Given the description of an element on the screen output the (x, y) to click on. 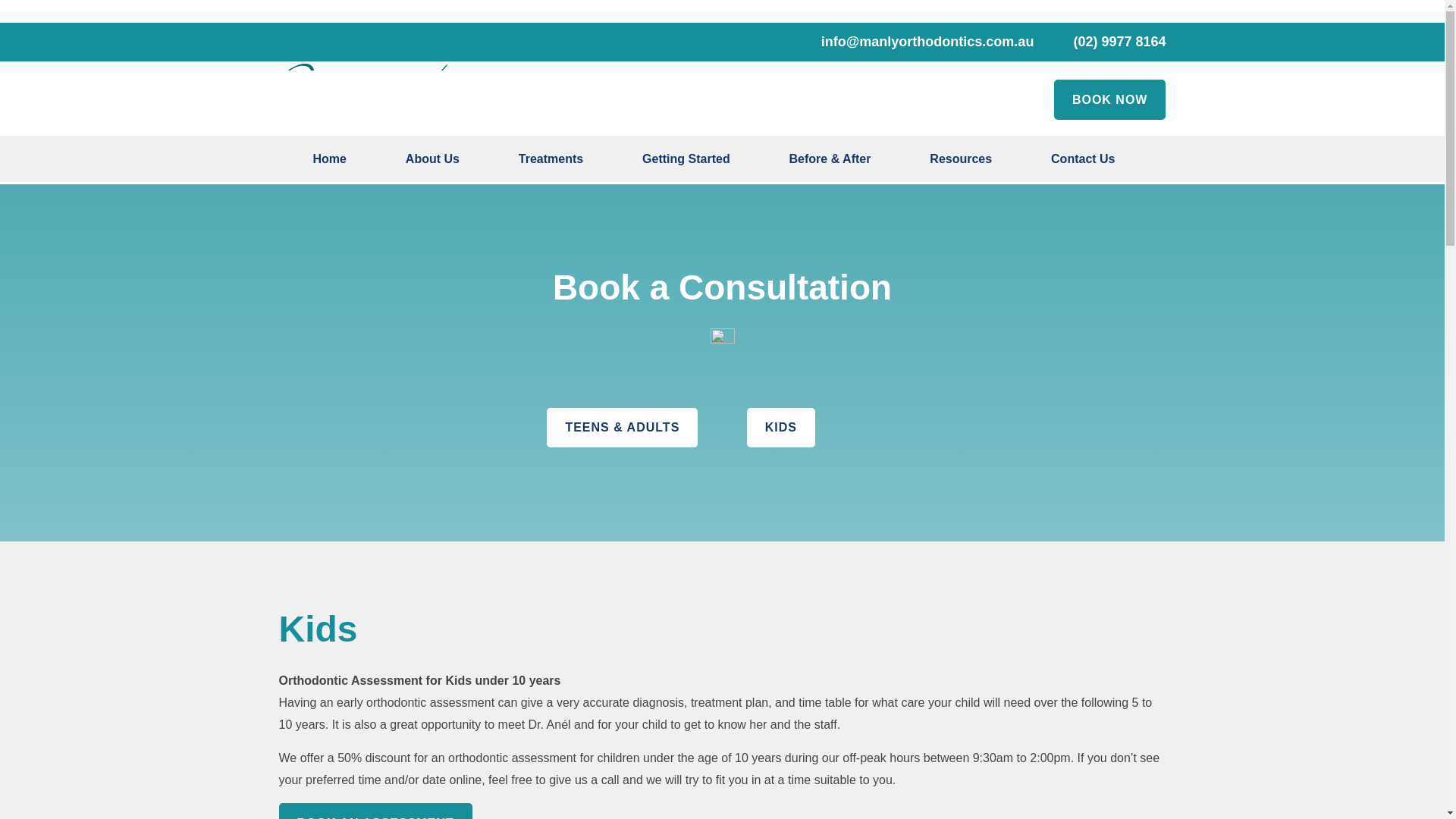
BOOK AN ASSESSMENT (375, 811)
About Us (433, 161)
NEW Manly Ortho LOGO2 (363, 99)
Contact Us (1083, 161)
Home (329, 161)
BOOK NOW (1110, 99)
Getting Started (686, 161)
Resources (960, 161)
Treatments (550, 161)
KIDS (780, 427)
